Given the description of an element on the screen output the (x, y) to click on. 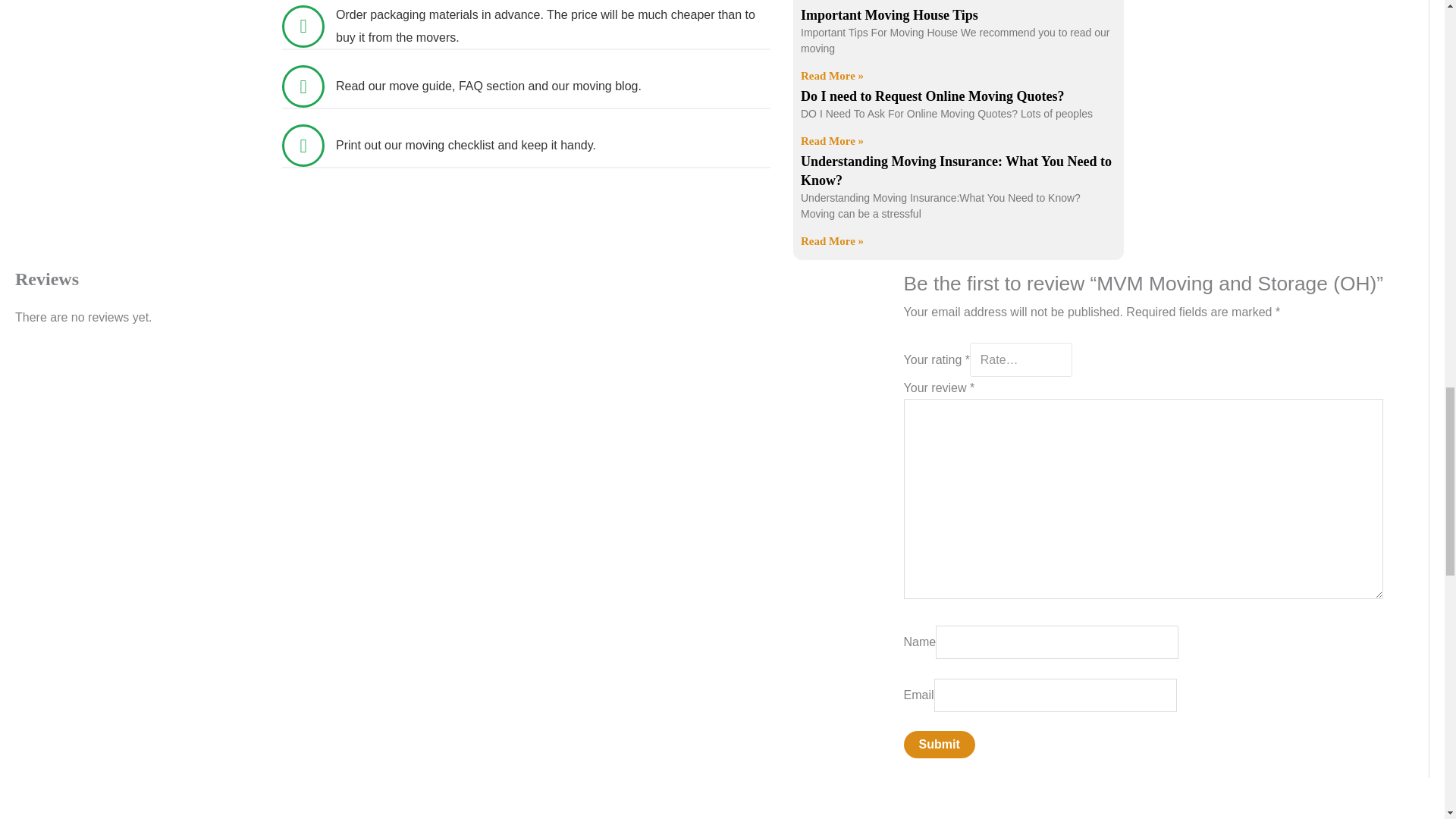
Submit (939, 744)
